Given the description of an element on the screen output the (x, y) to click on. 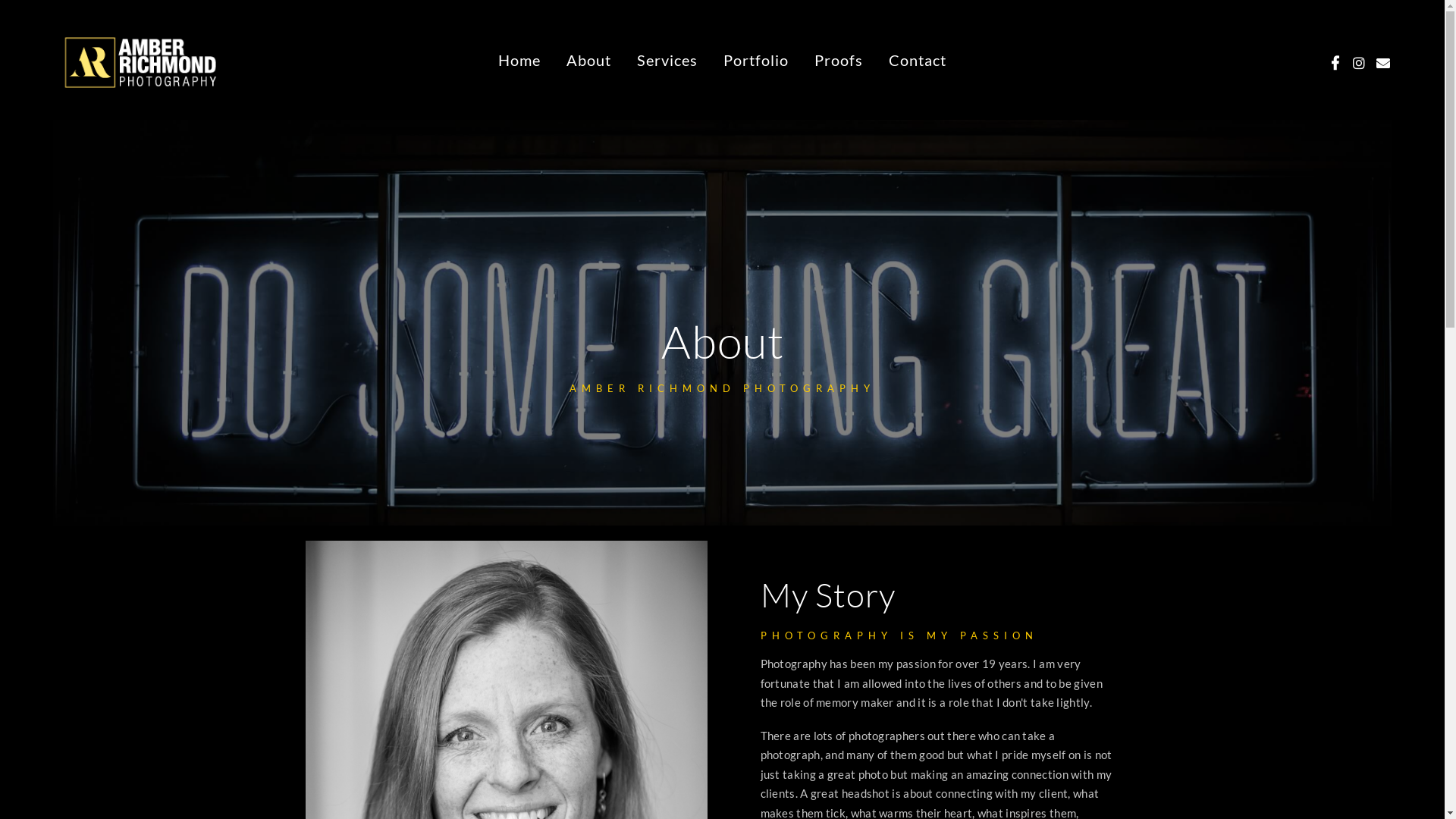
Portfolio Element type: text (755, 59)
Services Element type: text (667, 59)
Contact Element type: text (917, 59)
About Element type: text (588, 59)
Home Element type: text (519, 59)
Proofs Element type: text (838, 59)
